Given the description of an element on the screen output the (x, y) to click on. 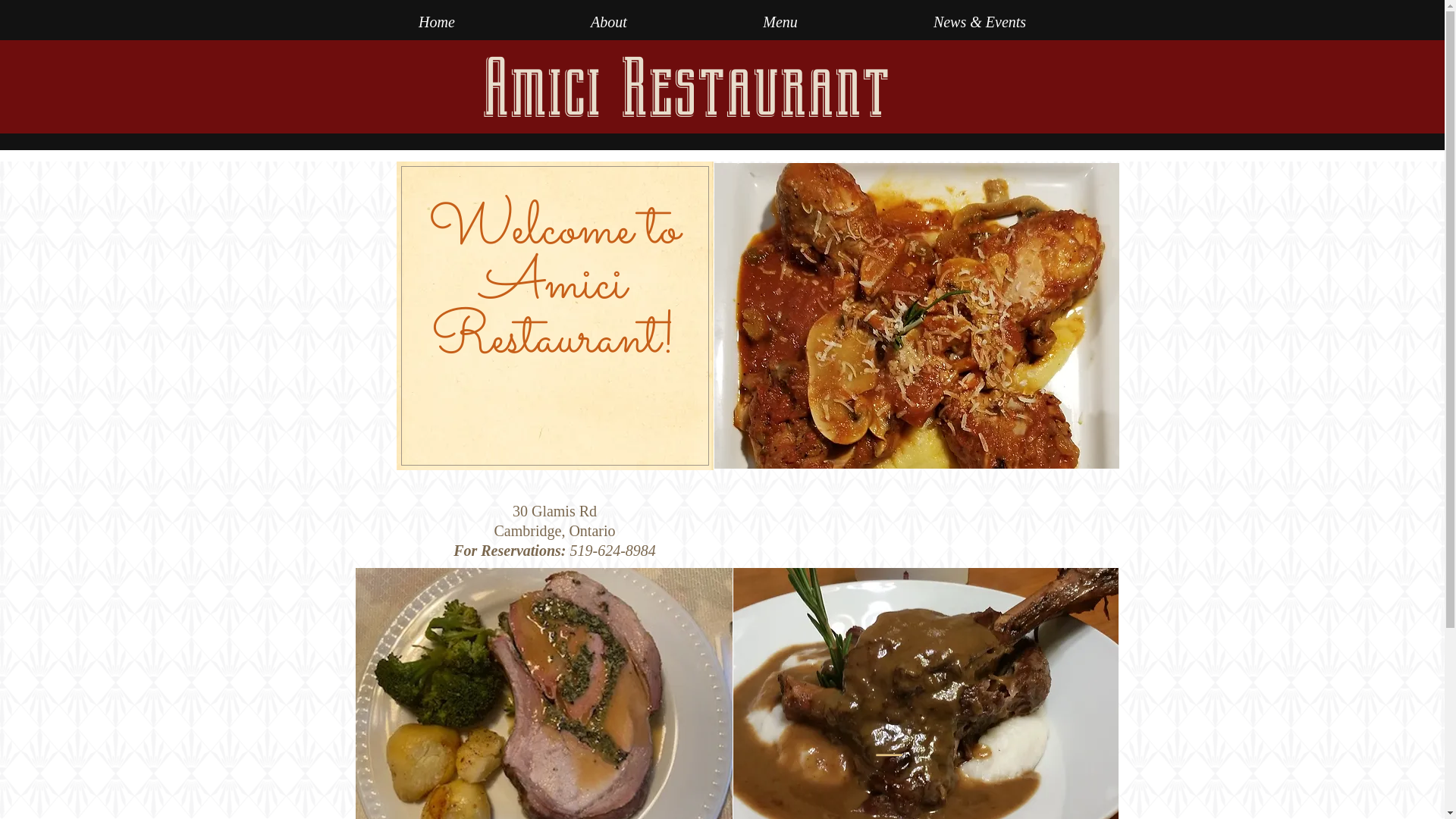
Menu Element type: text (779, 21)
About Element type: text (609, 21)
News & Events Element type: text (980, 21)
Home Element type: text (436, 21)
